Given the description of an element on the screen output the (x, y) to click on. 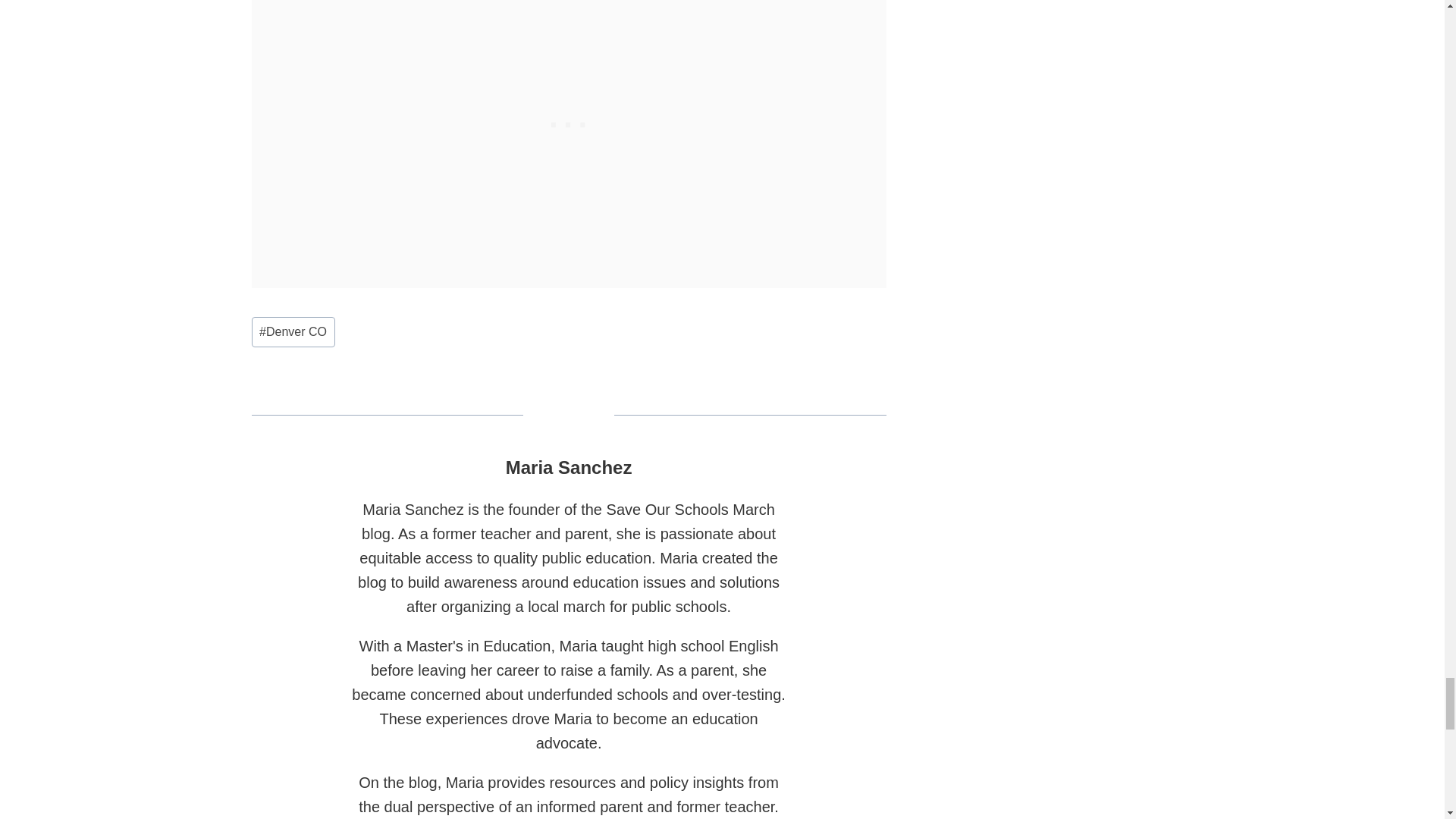
Denver CO (292, 331)
Posts by Maria Sanchez (568, 467)
